Given the description of an element on the screen output the (x, y) to click on. 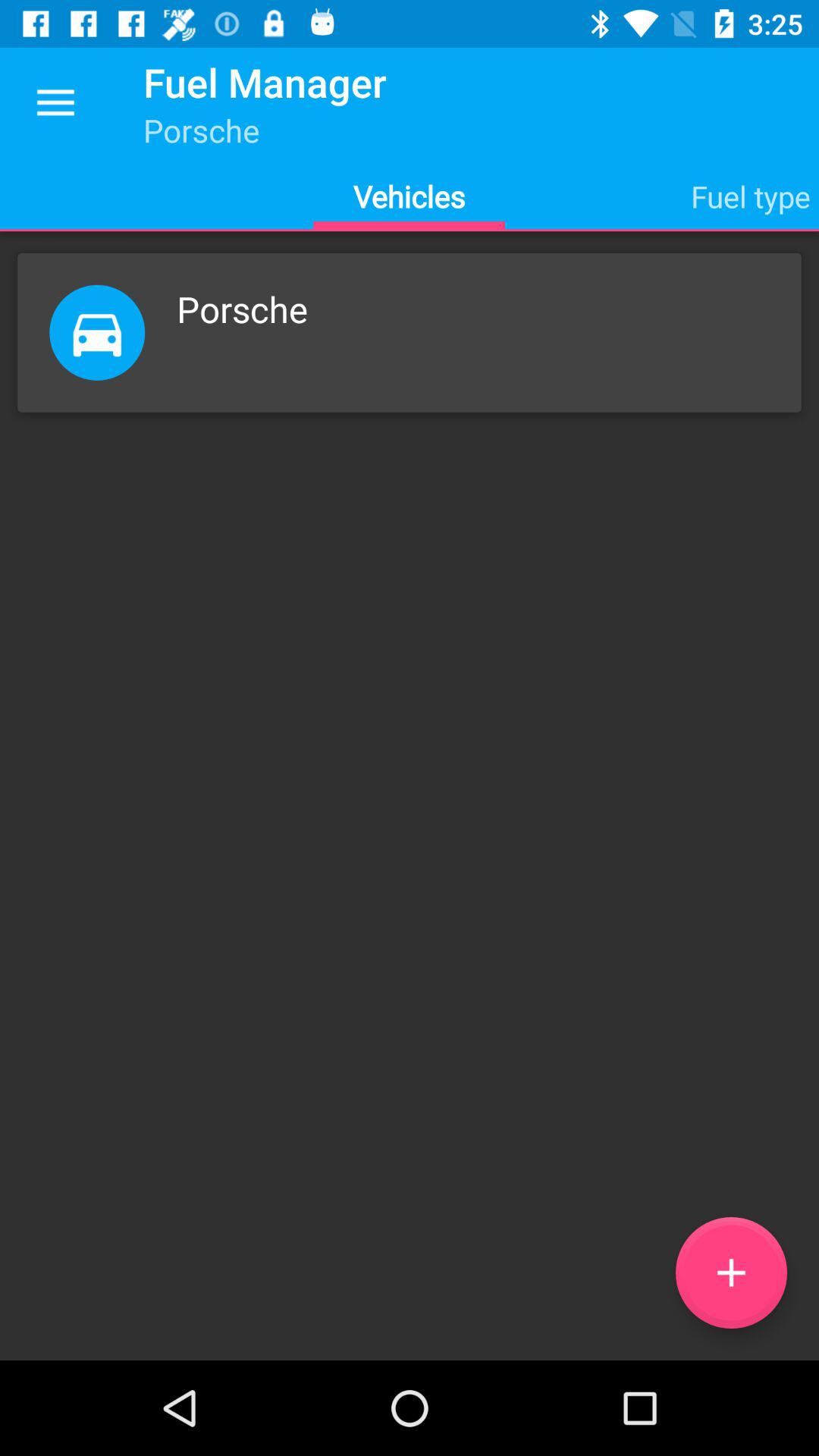
turn on icon at the bottom right corner (731, 1272)
